Given the description of an element on the screen output the (x, y) to click on. 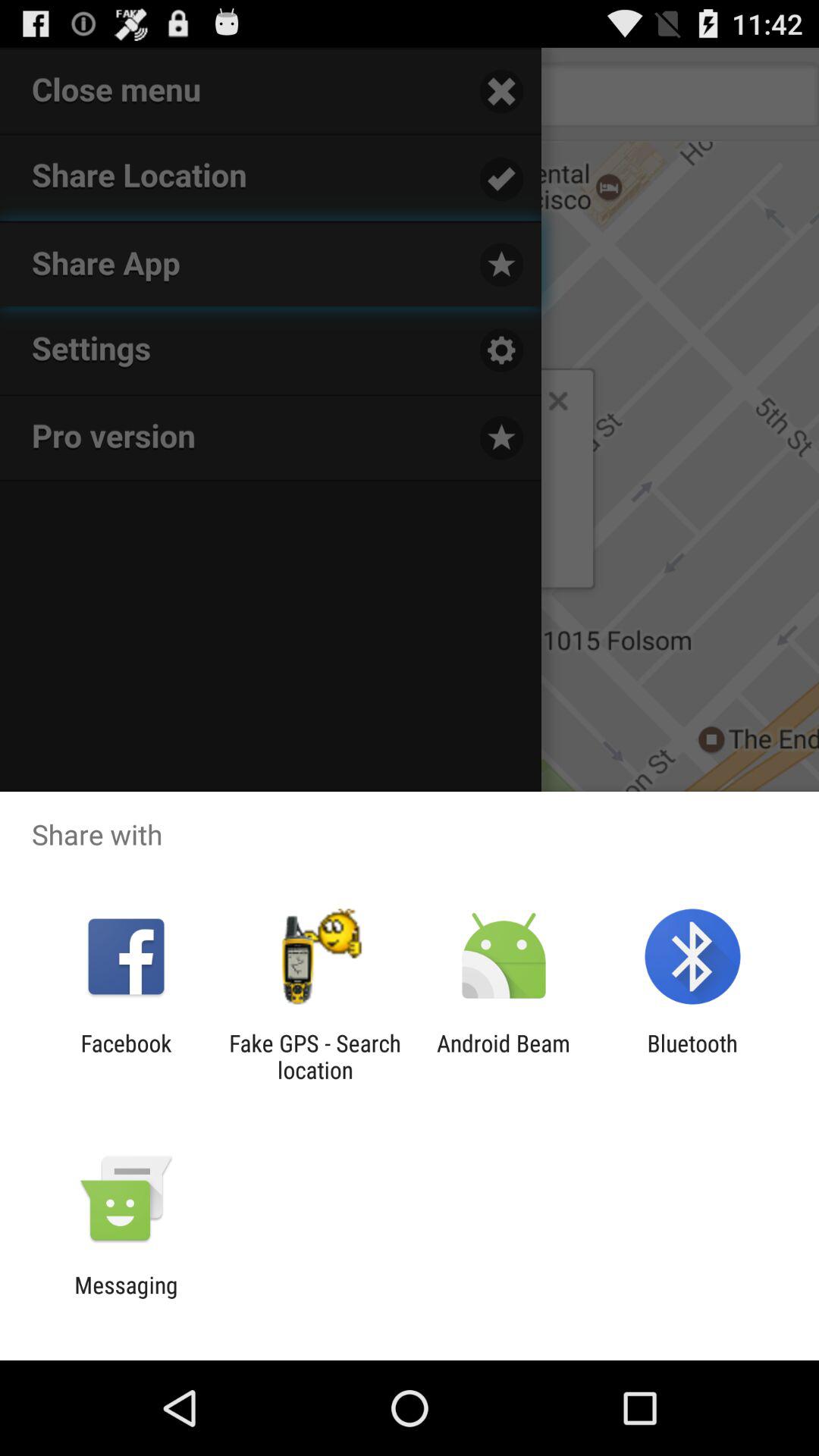
click item next to the bluetooth (503, 1056)
